Given the description of an element on the screen output the (x, y) to click on. 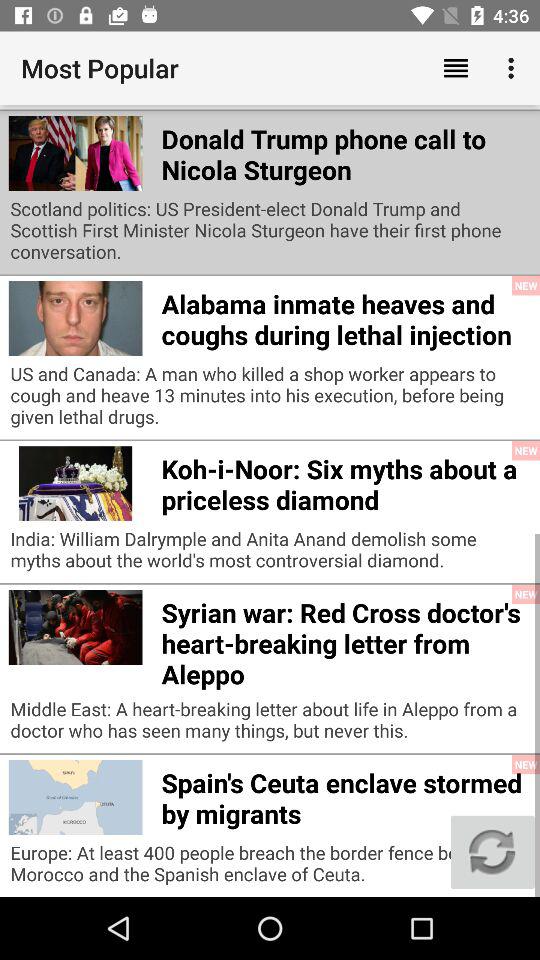
tap the app above the europe learning english icon (513, 67)
